Given the description of an element on the screen output the (x, y) to click on. 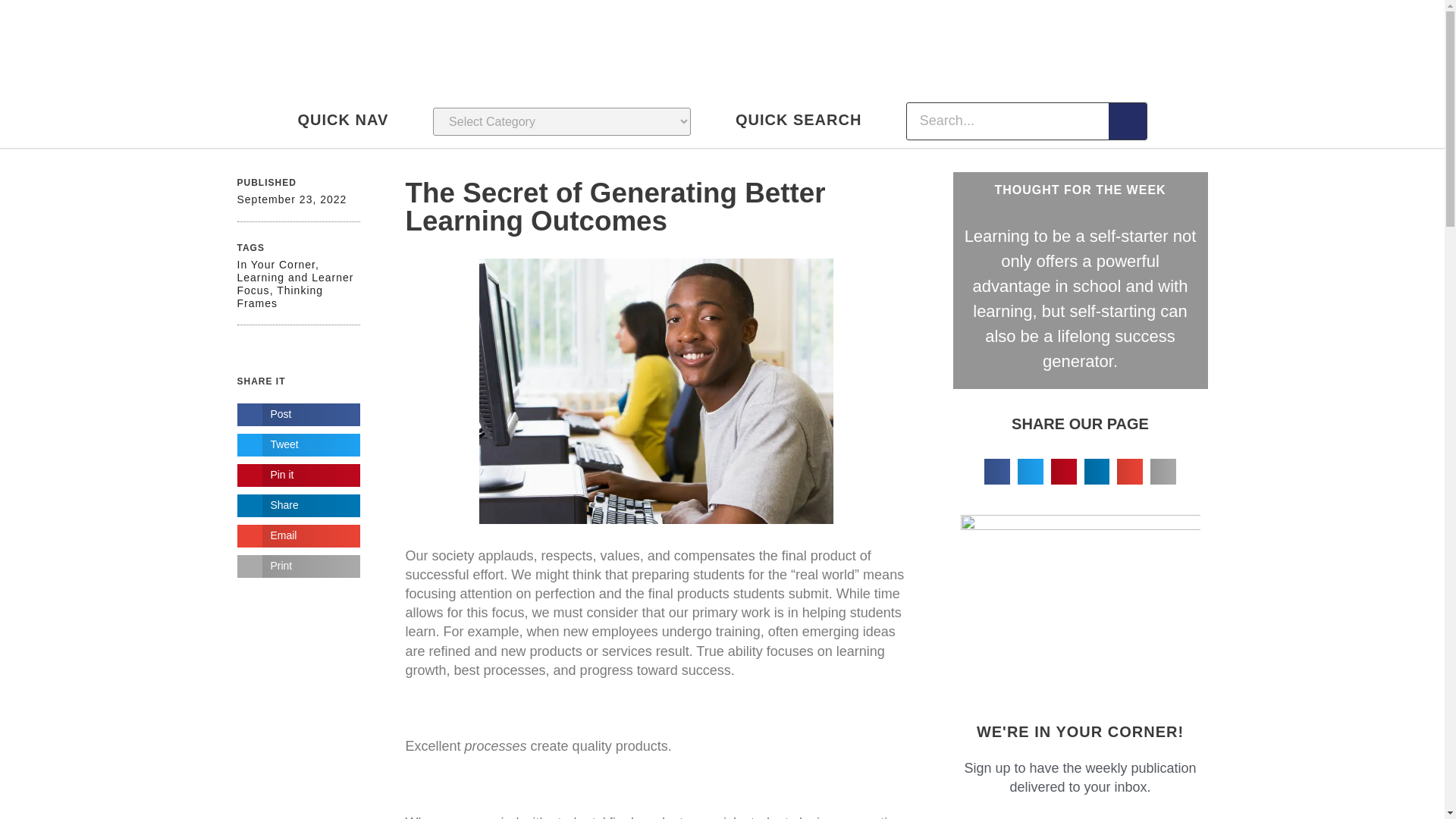
September 23, 2022 (290, 199)
Thinking Frames (279, 296)
Learning and Learner Focus (294, 283)
The Secret of Generating Better Learning Outcomes (614, 206)
In Your Corner (275, 264)
